Given the description of an element on the screen output the (x, y) to click on. 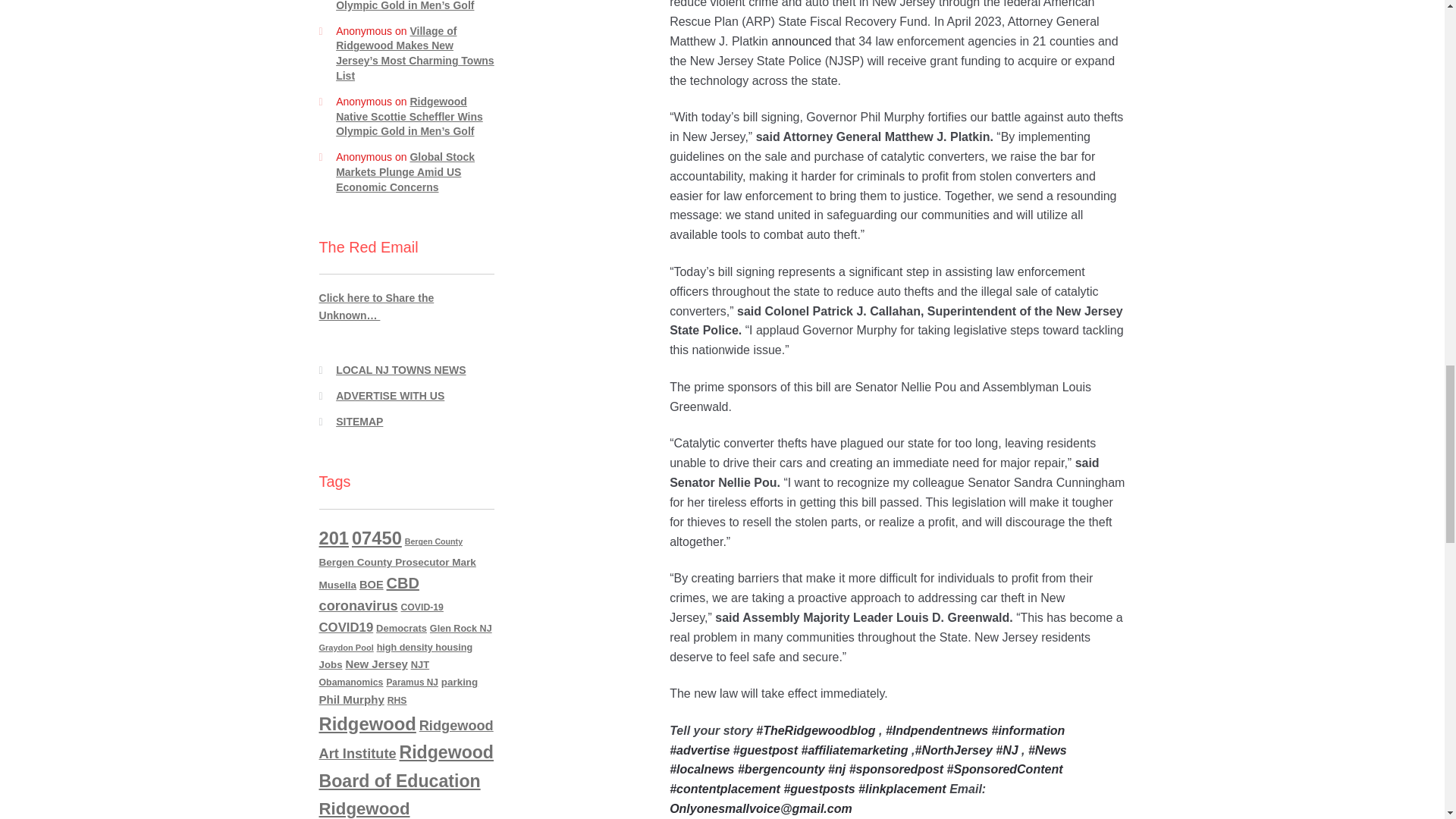
announced (801, 41)
